Given the description of an element on the screen output the (x, y) to click on. 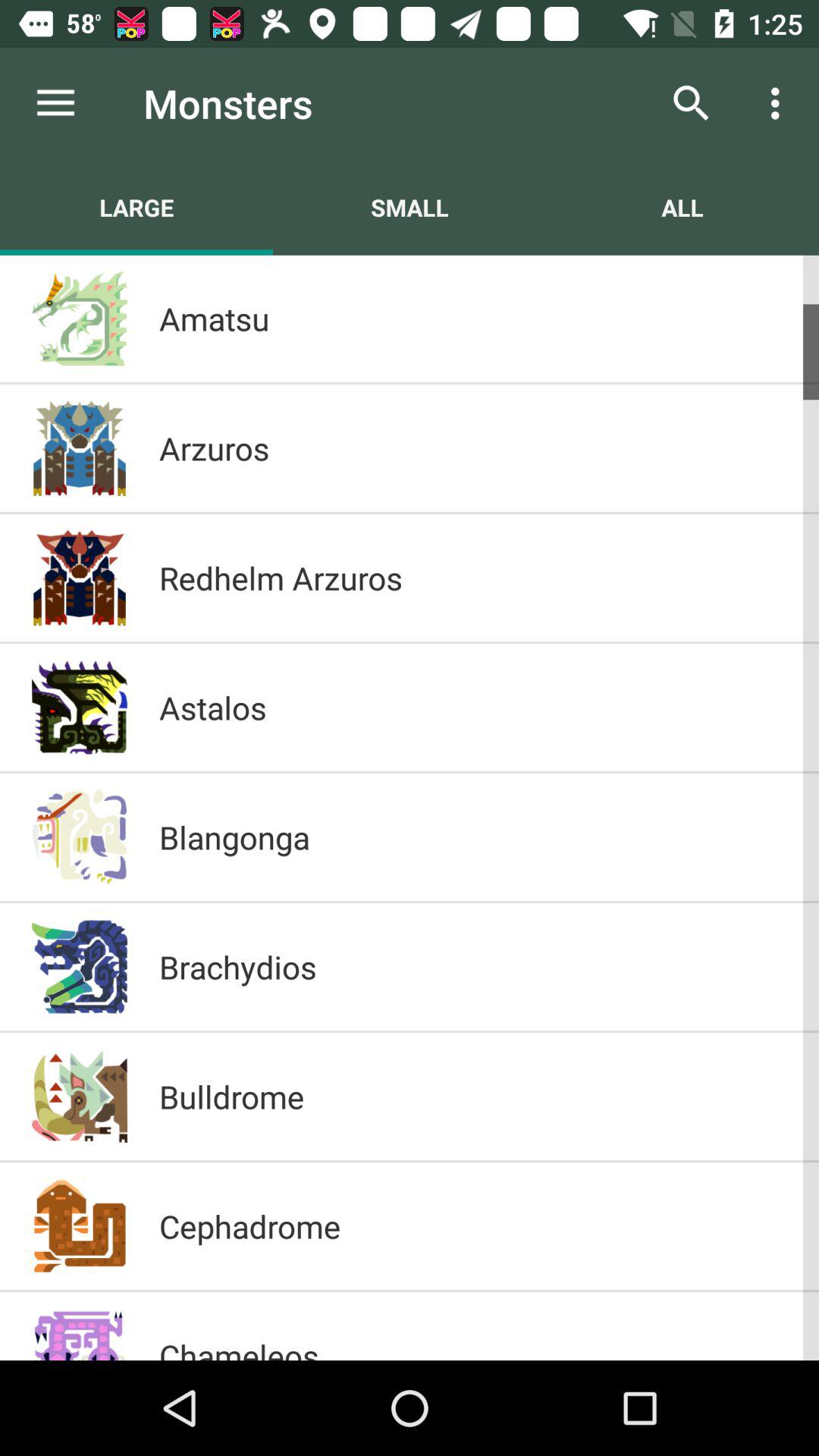
tap bulldrome (473, 1096)
